Given the description of an element on the screen output the (x, y) to click on. 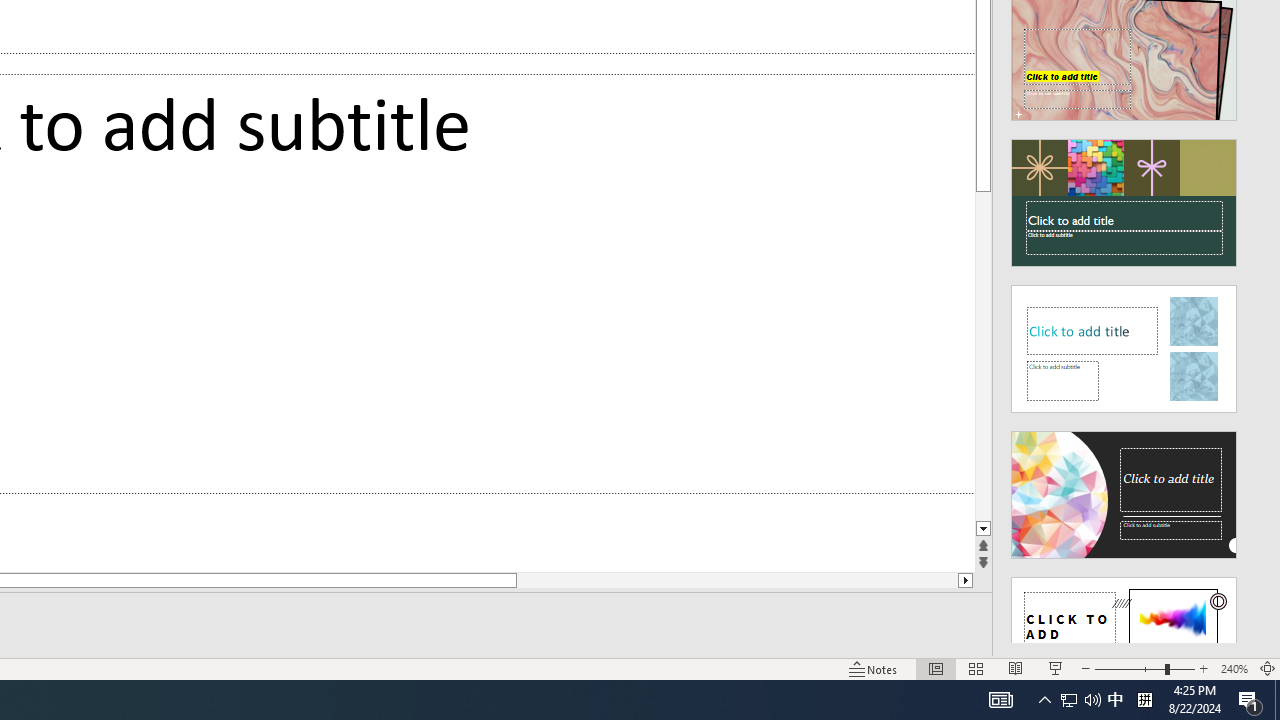
Design Idea (1124, 634)
Zoom 240% (1234, 668)
